Given the description of an element on the screen output the (x, y) to click on. 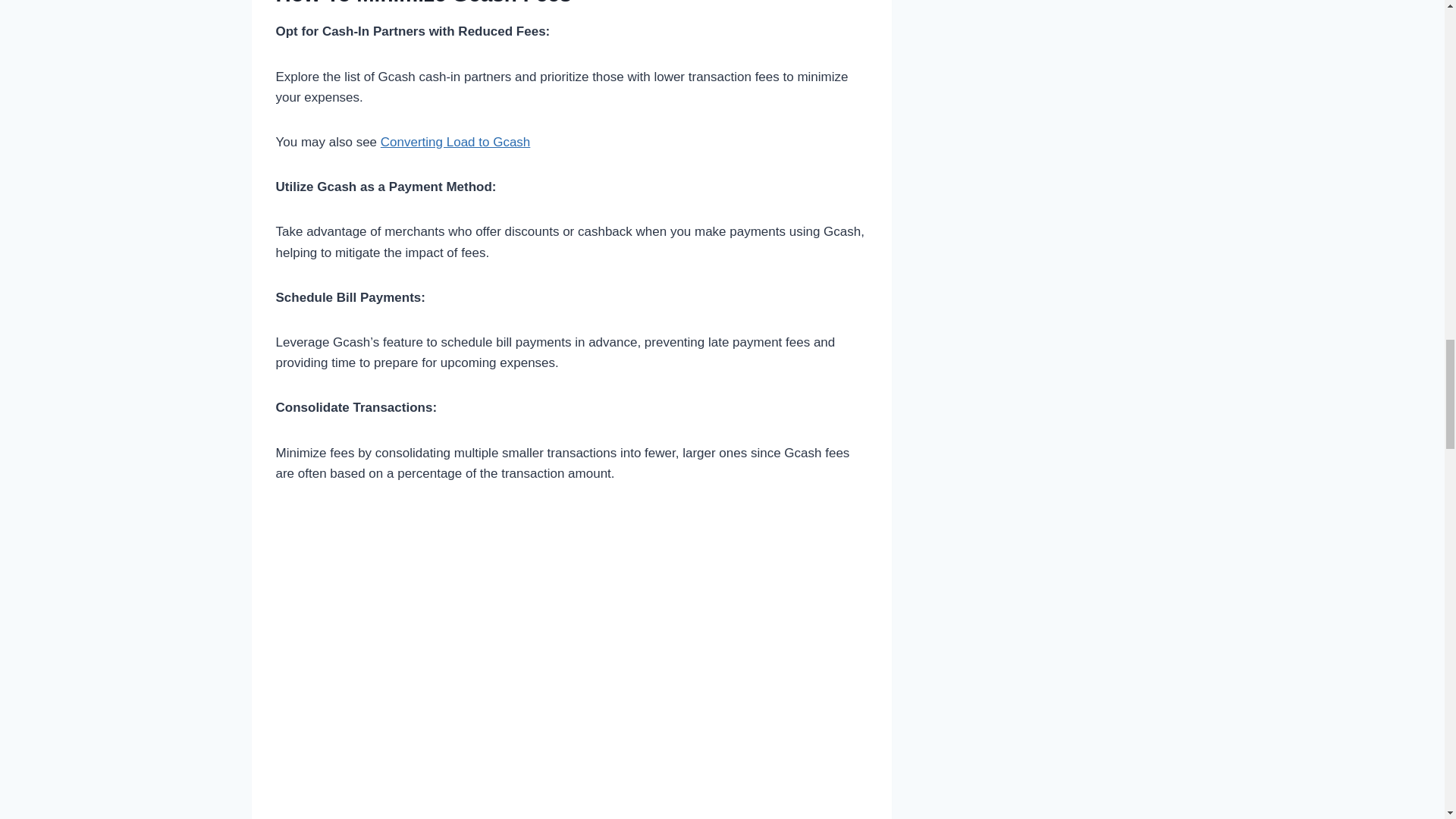
Converting Load to Gcash (455, 142)
